Given the description of an element on the screen output the (x, y) to click on. 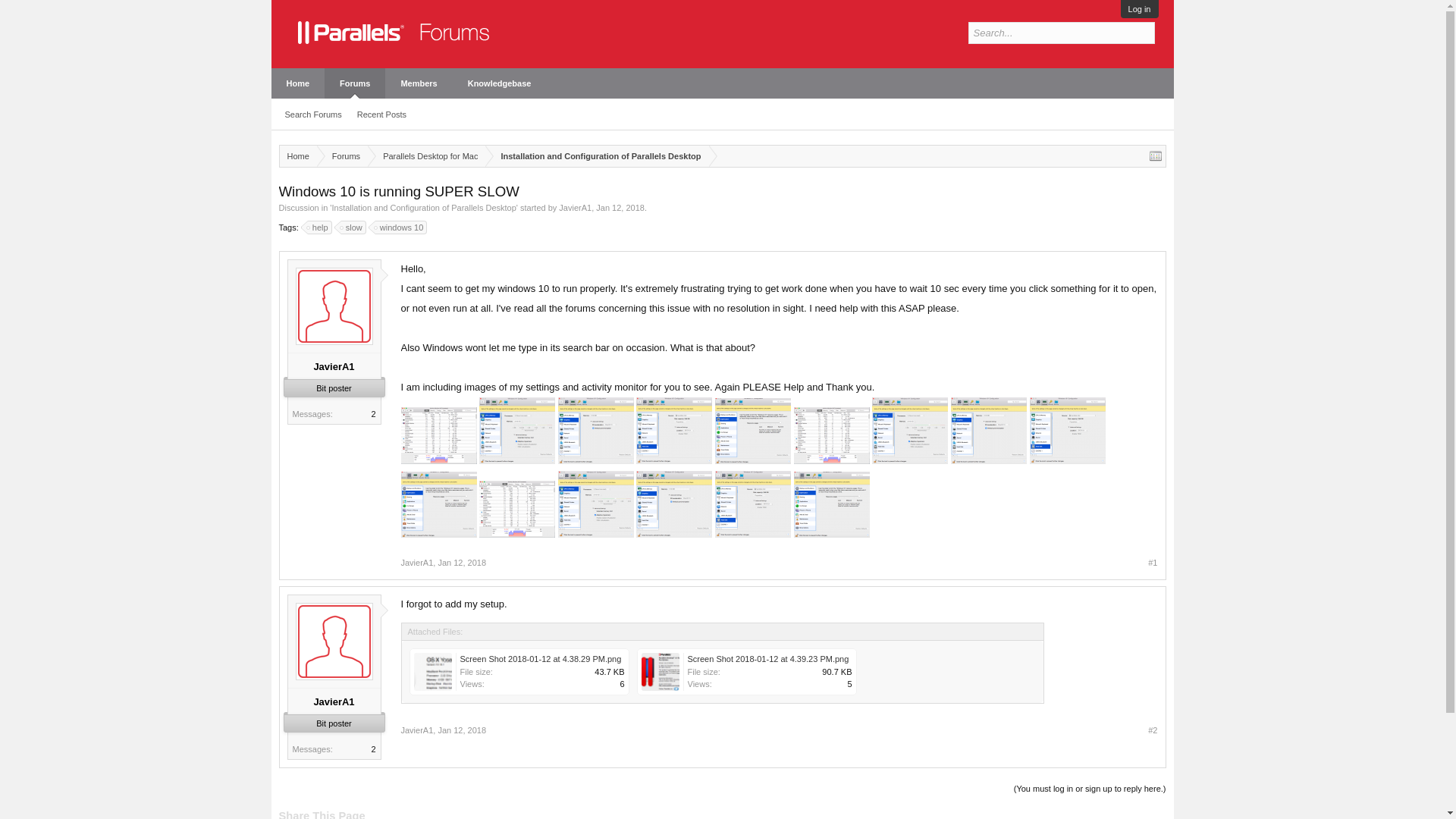
Recent Posts (381, 114)
help (319, 227)
Knowledgebase (499, 82)
Members (418, 82)
Permalink (462, 562)
Installation and Configuration of Parallels Desktop (423, 207)
JavierA1 (334, 366)
Installation and Configuration of Parallels Desktop (595, 156)
Screen Shot 2018-01-12 at 4.39.23 PM.png (750, 675)
Home (297, 82)
